Given the description of an element on the screen output the (x, y) to click on. 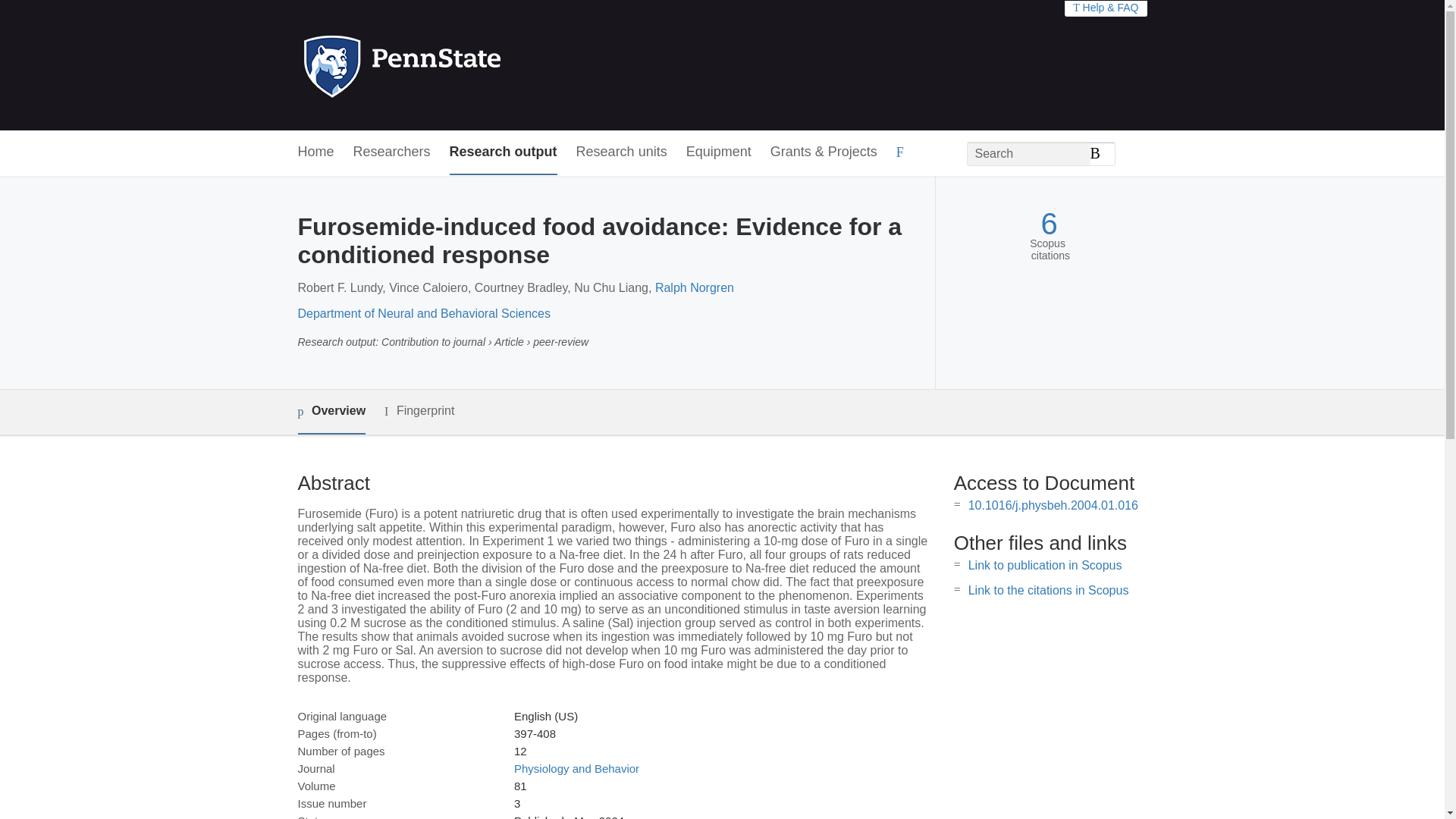
Overview (331, 411)
Researchers (391, 152)
Link to publication in Scopus (1045, 564)
Research units (621, 152)
Physiology and Behavior (576, 768)
Link to the citations in Scopus (1048, 590)
Fingerprint (419, 411)
Research output (503, 152)
Department of Neural and Behavioral Sciences (423, 313)
Penn State Home (467, 65)
Equipment (718, 152)
Ralph Norgren (694, 287)
